Given the description of an element on the screen output the (x, y) to click on. 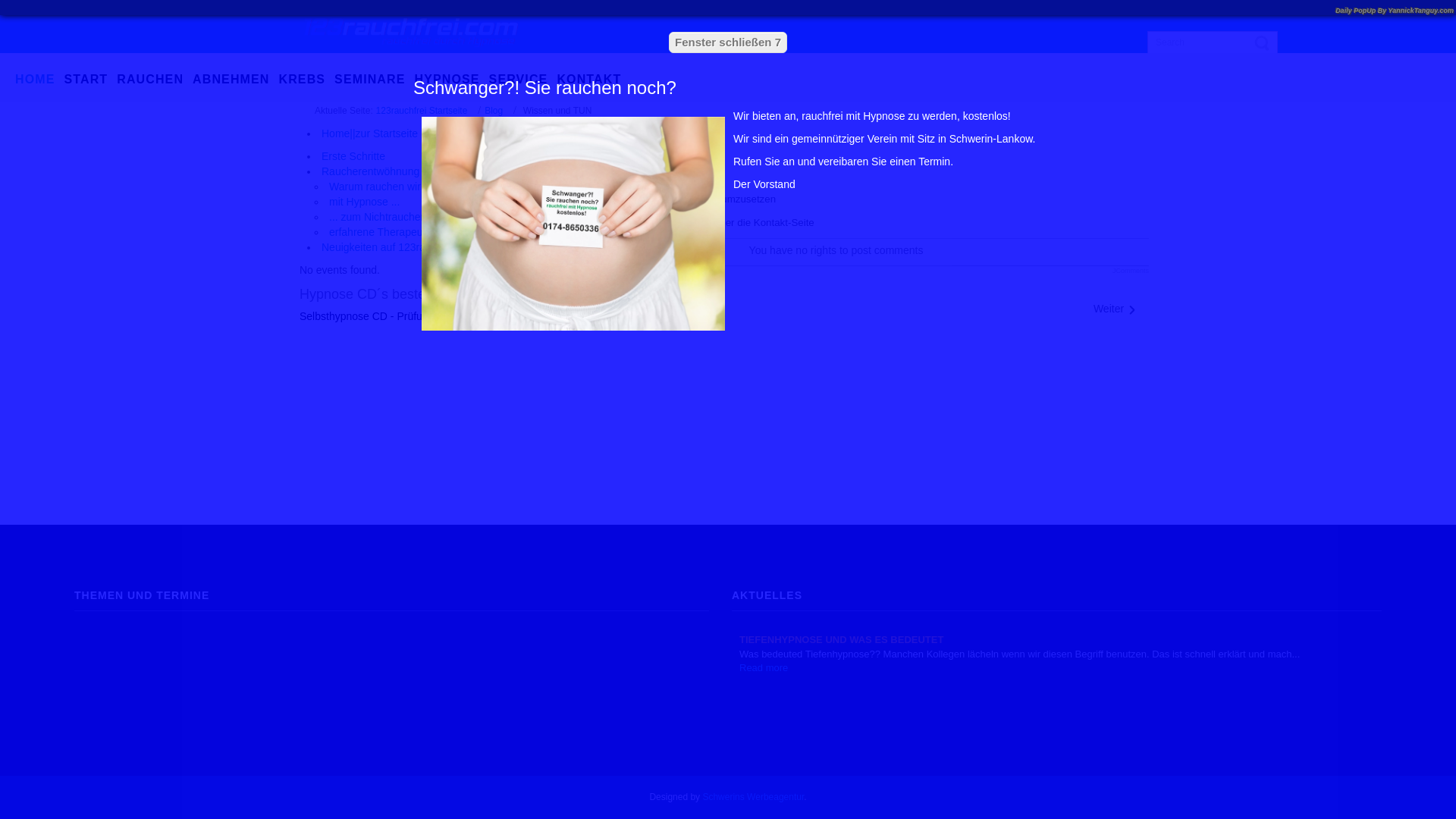
Schwerins Werbeagentur Element type: text (752, 796)
TIEFENHYPNOSE UND WAS ES BEDEUTET Element type: text (841, 639)
Neuigkeiten auf 123rauchfrei Element type: text (389, 247)
START Element type: text (89, 79)
Read more Element type: text (763, 667)
SERVICE Element type: text (523, 79)
SEMINARE Element type: text (374, 79)
Weiter Element type: text (1115, 308)
mit Hypnose ... Element type: text (364, 201)
HOME Element type: text (39, 79)
JComments Element type: text (1130, 270)
Erste Schritte Element type: text (353, 156)
KONTAKT Element type: text (593, 79)
Daily PopUp By YannickTanguy.com Element type: text (1394, 10)
123rauchfrei Startseite Element type: text (421, 110)
... zum Nichtraucher Element type: text (376, 216)
HYPNOSE Element type: text (451, 79)
ABNEHMEN Element type: text (235, 79)
Home||zur Startseite Element type: text (369, 133)
Blog Element type: text (493, 110)
erfahrene Therapeuten Element type: text (383, 231)
Selbsthypnose CD - abnehmen - Element type: text (376, 316)
KREBS Element type: text (306, 79)
Link einem Freund via E-Mail senden Element type: hover (532, 151)
RAUCHEN Element type: text (154, 79)
